Given the description of an element on the screen output the (x, y) to click on. 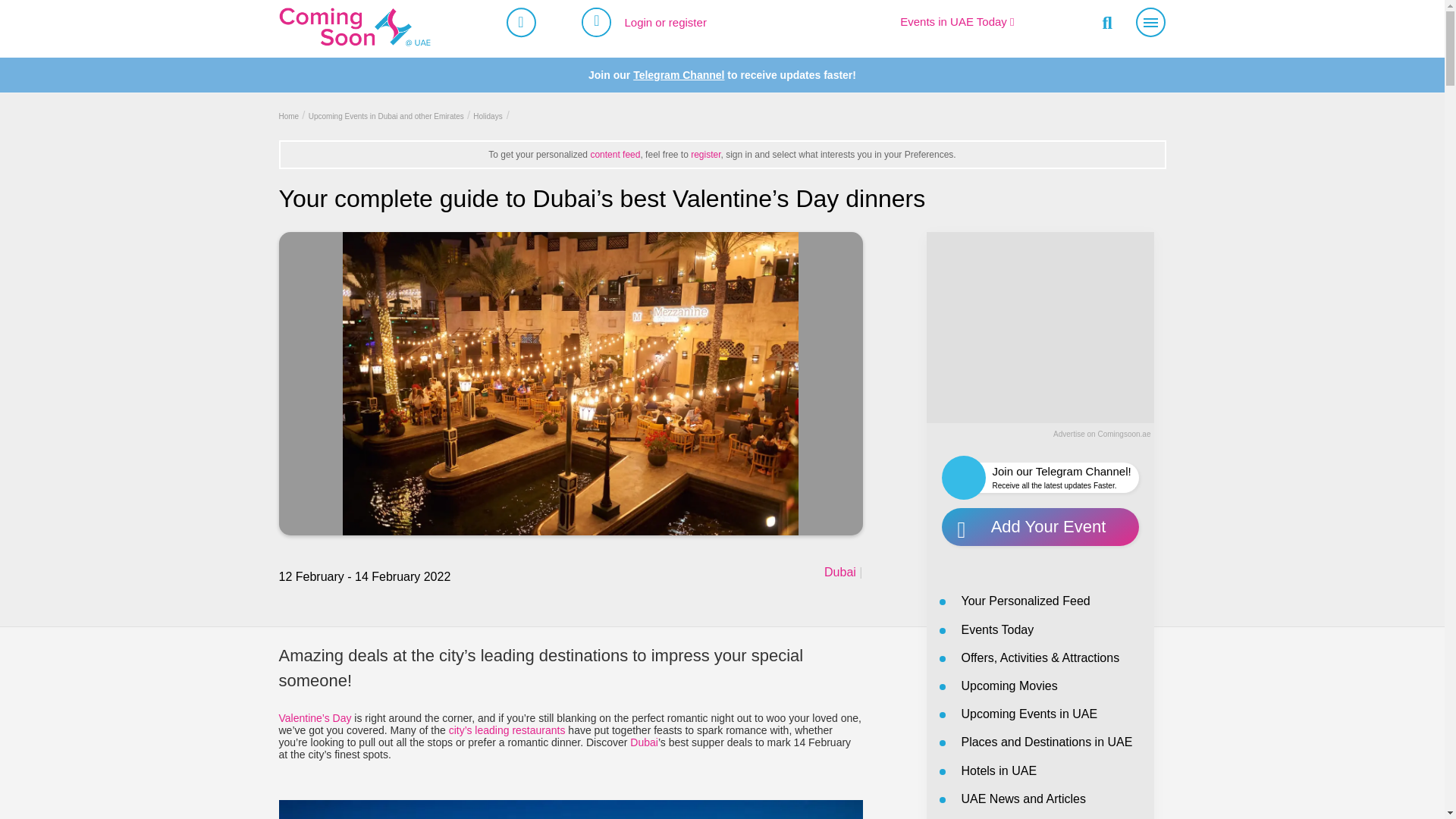
Login or register (665, 21)
Advertisement (1040, 326)
Events in UAE Today (956, 21)
